Given the description of an element on the screen output the (x, y) to click on. 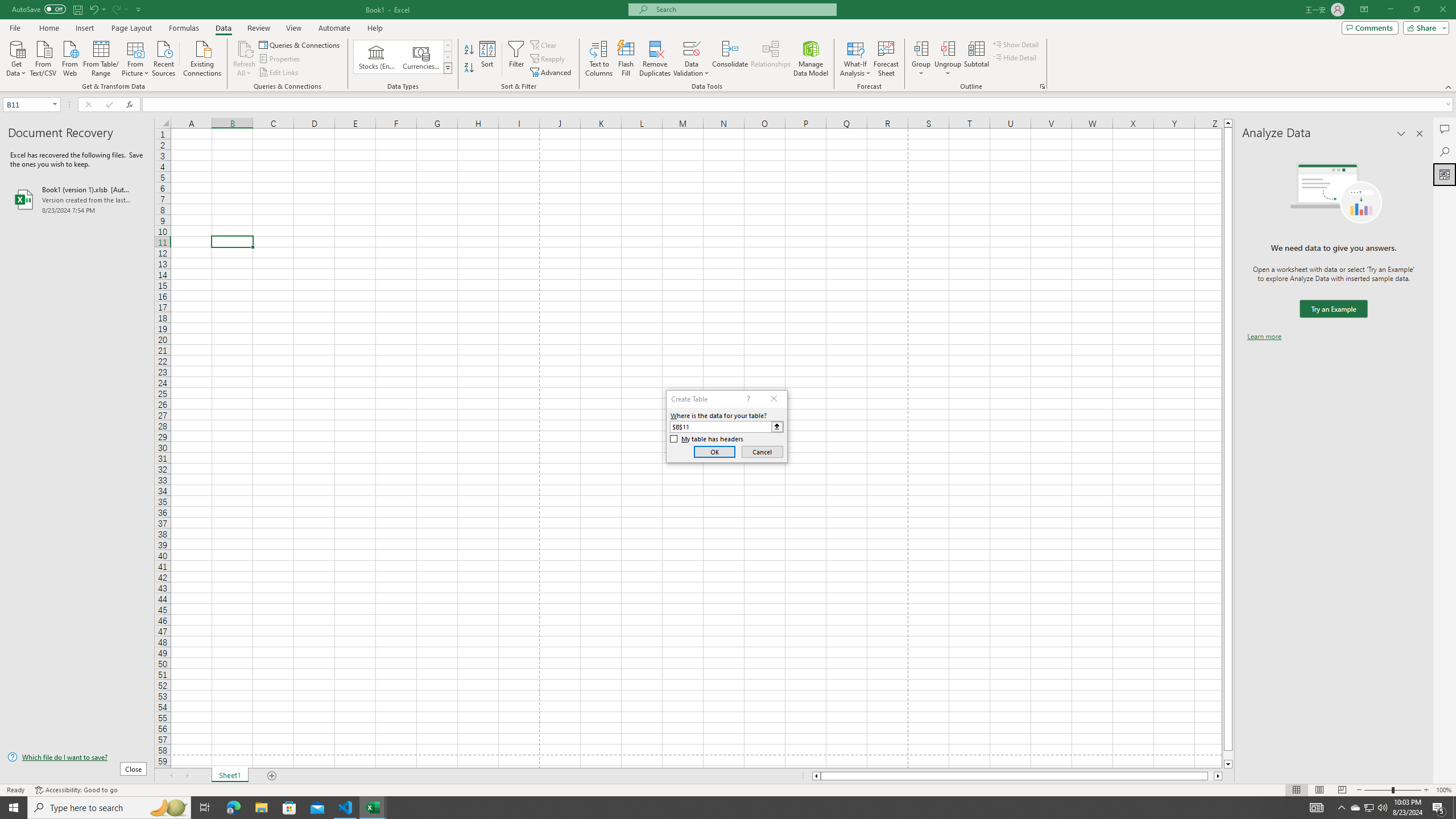
Flash Fill (625, 58)
Learn more (1264, 336)
Relationships (770, 58)
Currencies (English) (420, 56)
